Given the description of an element on the screen output the (x, y) to click on. 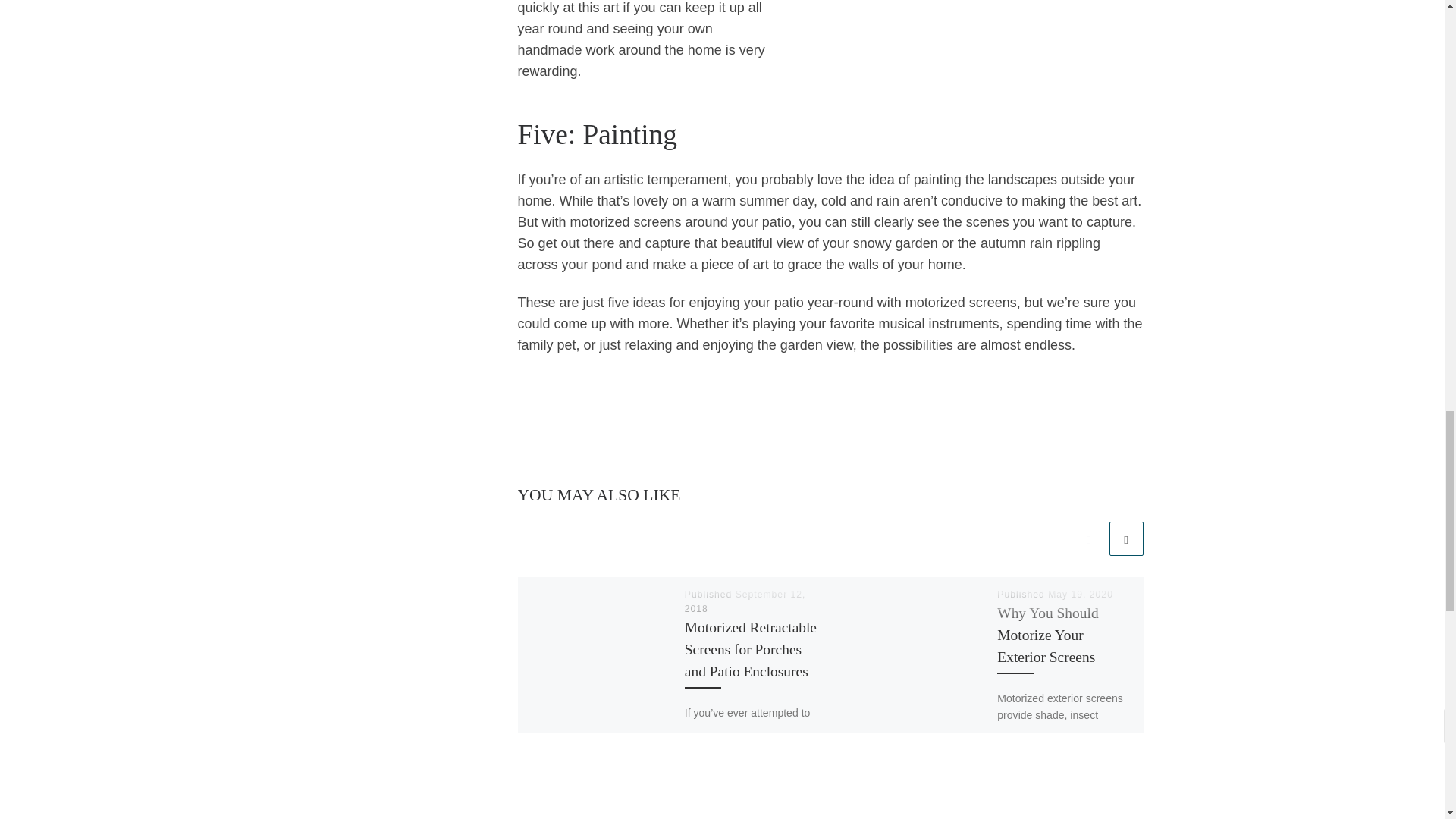
Previous related articles (1088, 538)
Next related articles (1125, 538)
